Given the description of an element on the screen output the (x, y) to click on. 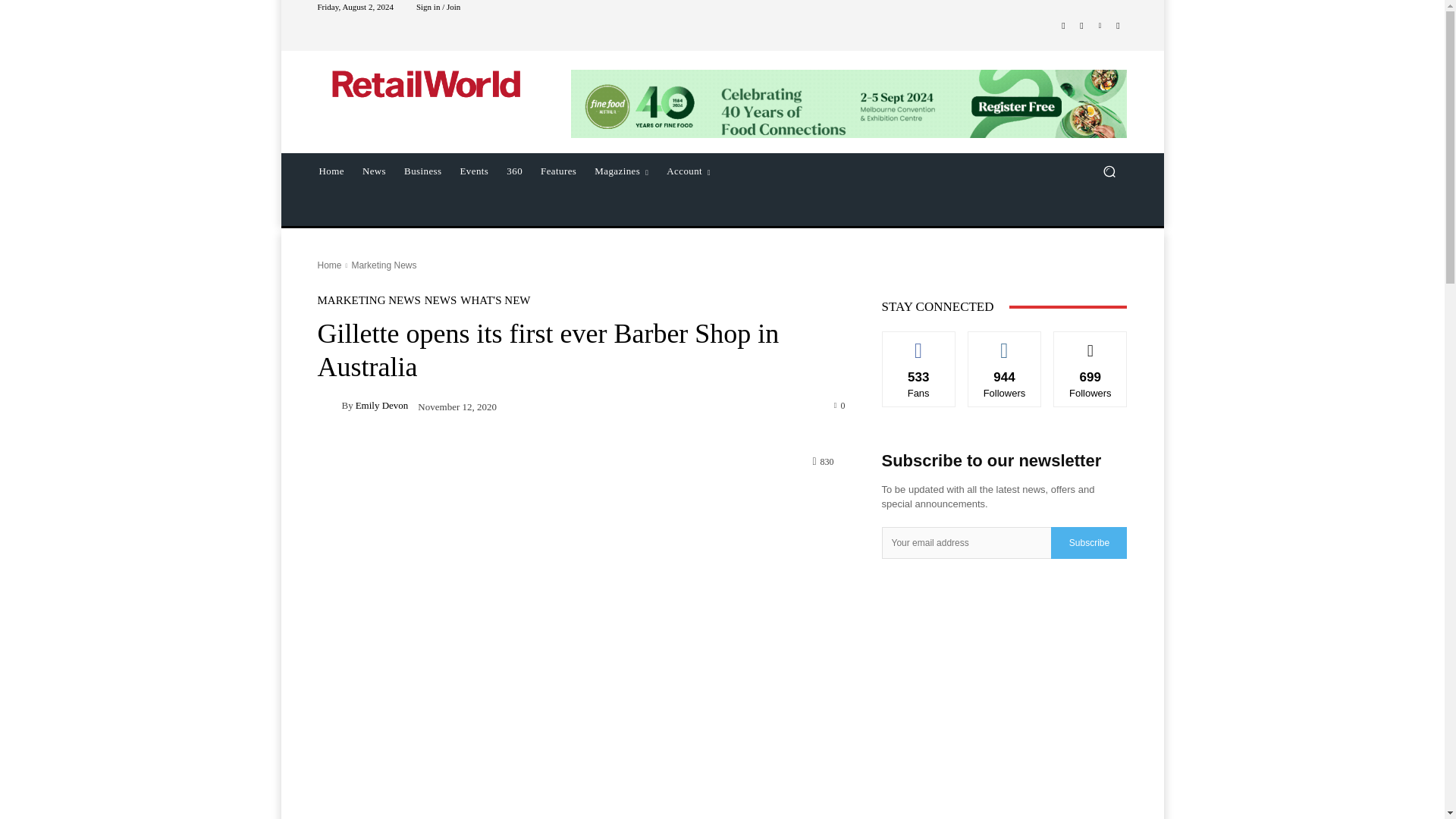
View all posts in Marketing News (383, 265)
Emily Devon (328, 405)
Account (688, 171)
Magazines (621, 171)
Linkedin (1099, 25)
Events (474, 171)
Twitter (1117, 25)
Home (328, 265)
Instagram (1080, 25)
Business (421, 171)
Facebook (1062, 25)
Features (558, 171)
360 (514, 171)
News (373, 171)
Home (330, 171)
